Given the description of an element on the screen output the (x, y) to click on. 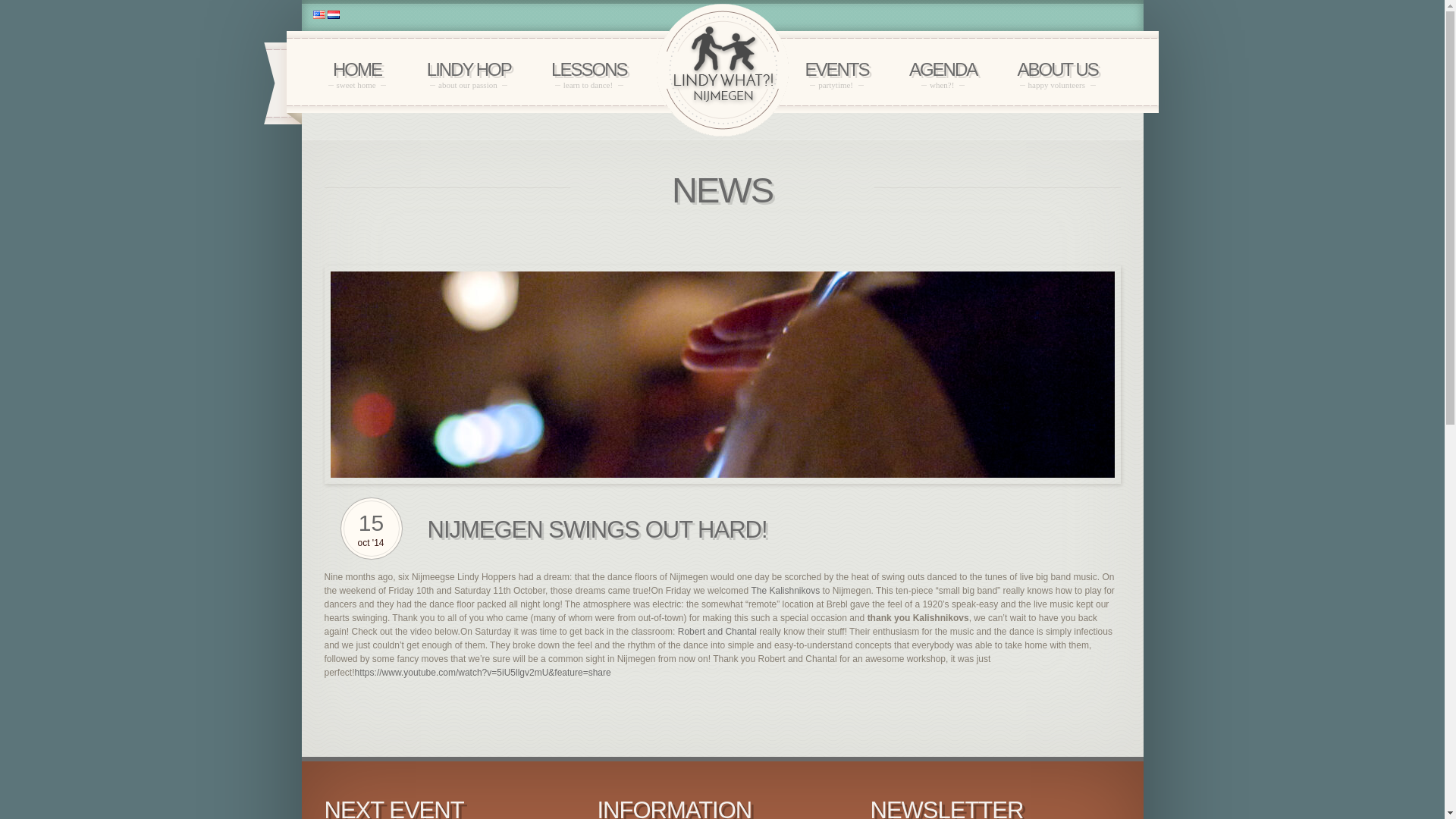
home (588, 74)
